Given the description of an element on the screen output the (x, y) to click on. 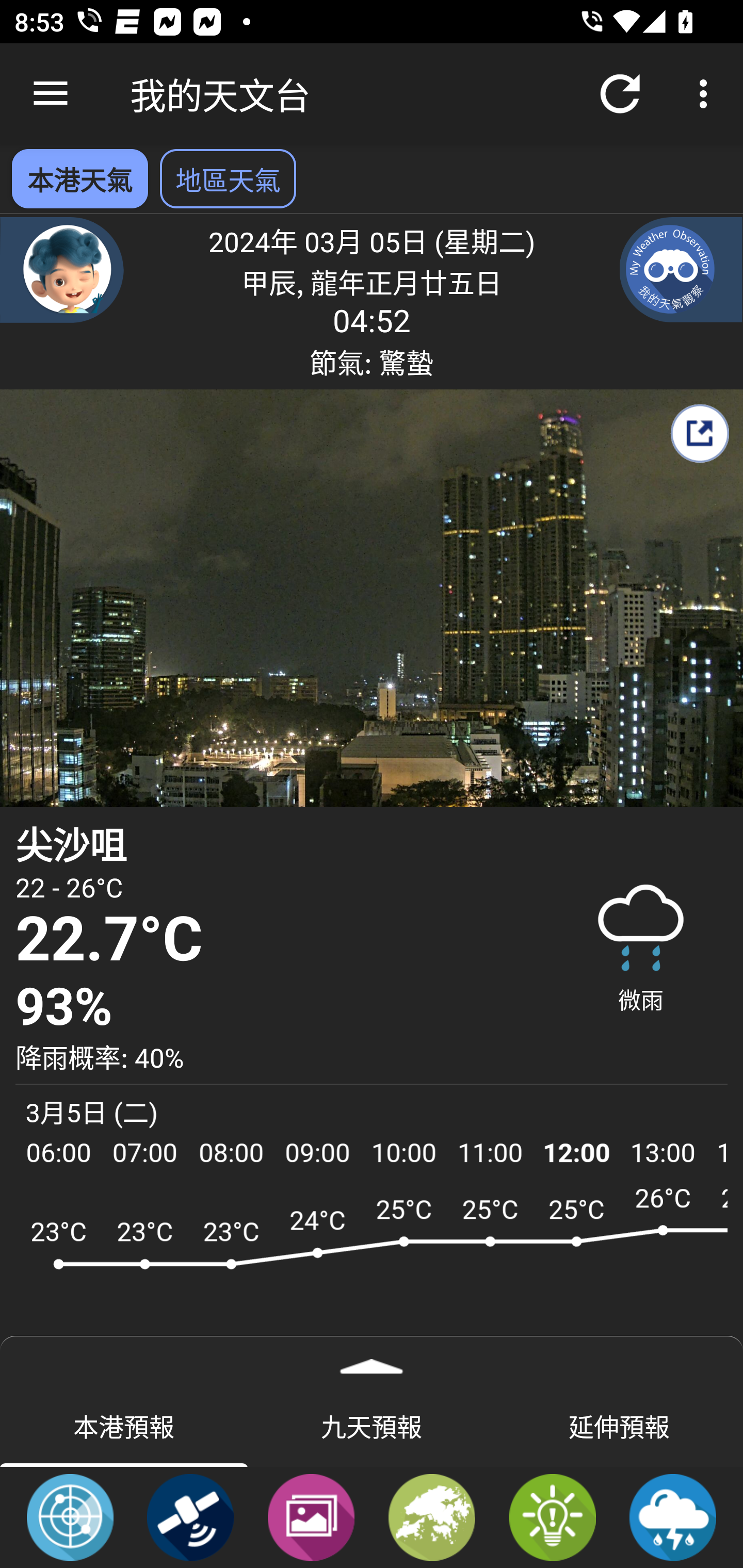
向上瀏覽 (50, 93)
重新整理 (619, 93)
更多選項 (706, 93)
本港天氣 已選擇 本港天氣 (79, 178)
地區天氣 選擇 地區天氣 (227, 178)
聊天機械人 (62, 269)
我的天氣觀察 (680, 269)
分享我的天氣報告 (699, 433)
22.7°C 氣溫22.7攝氏度 (276, 939)
93% 相對濕度百分之93 (276, 1007)
九天自動天氣預報 圖片
輕按進入內頁，即可了解詳細資料。 ARWF (371, 1275)
展開 (371, 1358)
本港預報 本港預報 九天預報 九天預報 延伸預報 延伸預報 (371, 1424)
九天預報 (371, 1424)
延伸預報 (619, 1424)
雷達圖像 (69, 1516)
衛星圖像 (190, 1516)
天氣照片 (310, 1516)
分區天氣 (431, 1516)
天氣提示 (551, 1516)
定點降雨及閃電預報 (672, 1516)
